Given the description of an element on the screen output the (x, y) to click on. 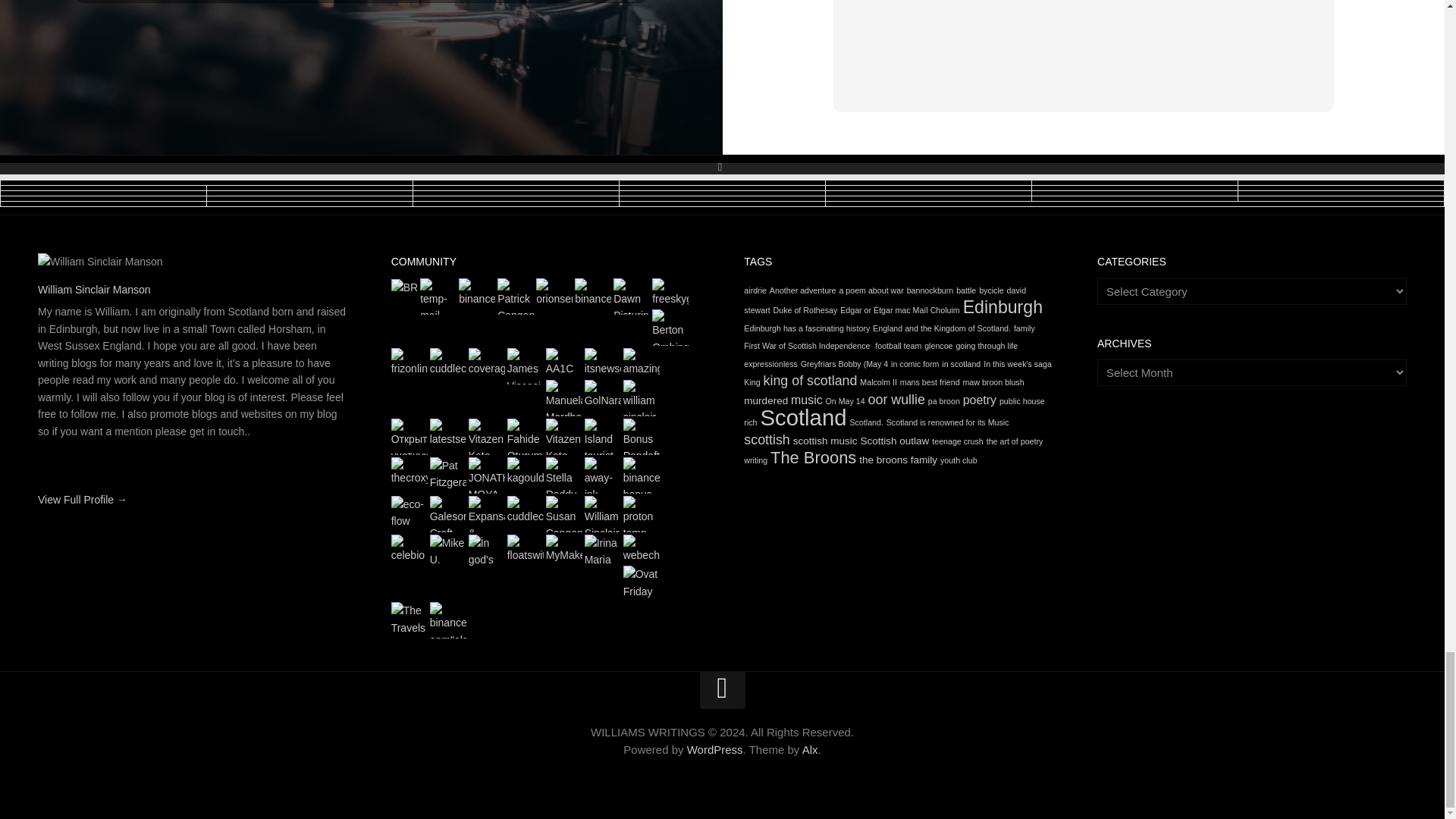
William Sinclair Manson (94, 289)
